Given the description of an element on the screen output the (x, y) to click on. 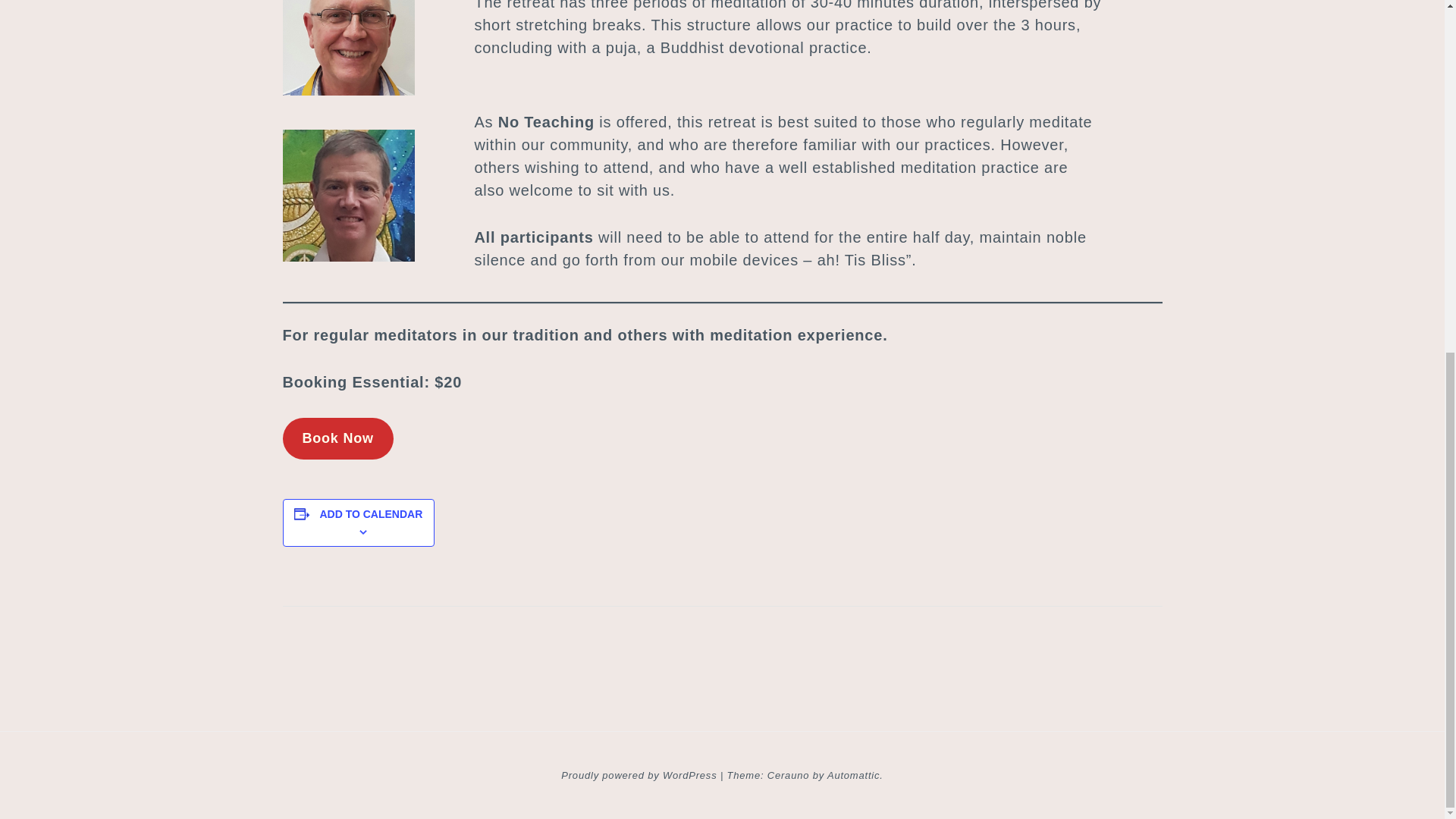
Automattic (853, 775)
Proudly powered by WordPress (638, 775)
Book Now (337, 438)
ADD TO CALENDAR (370, 513)
